Given the description of an element on the screen output the (x, y) to click on. 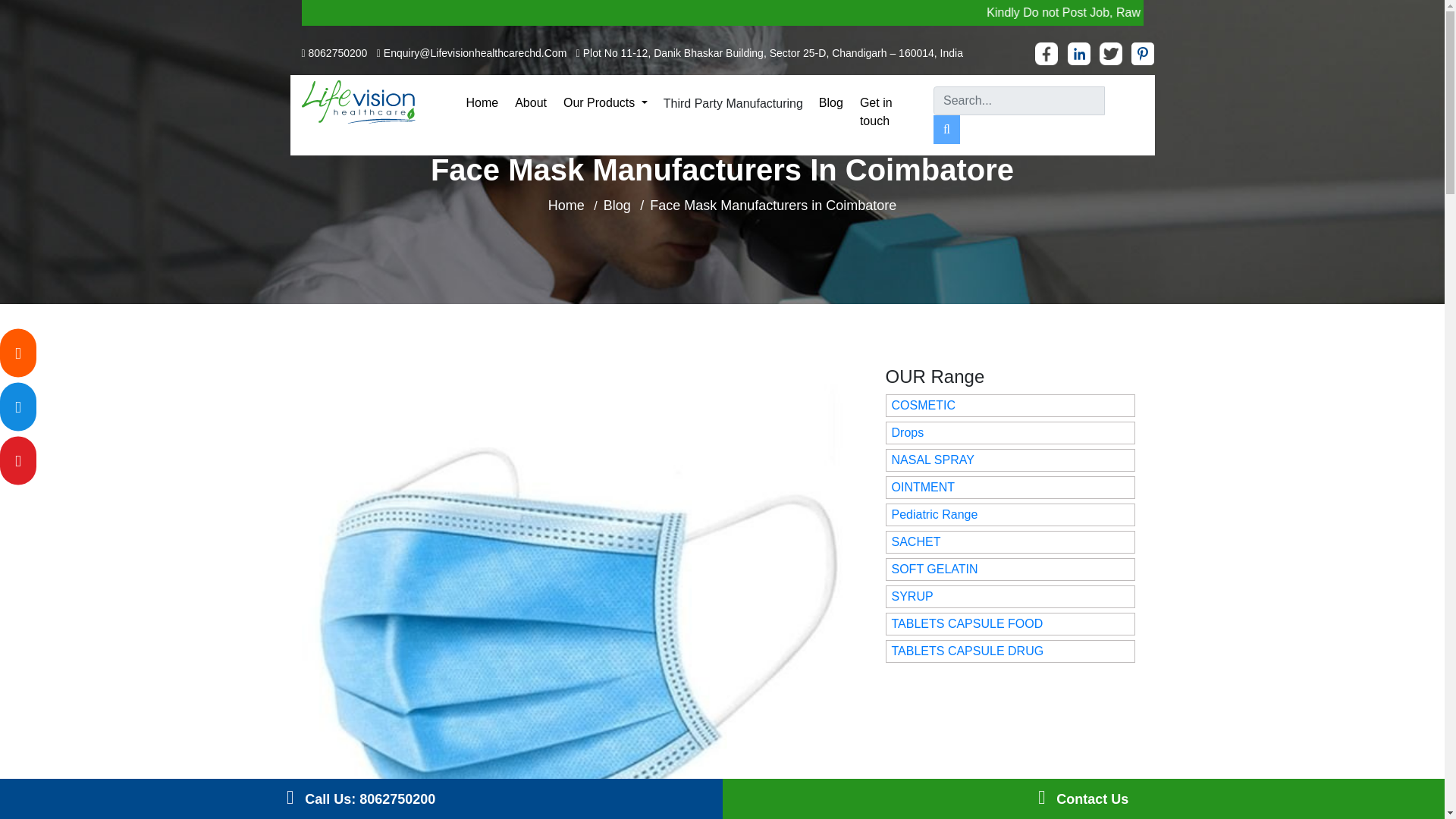
Home (566, 205)
Drops (907, 431)
Face Mask Manufacturers in Coimbatore (772, 205)
Our Products (605, 102)
Blog (617, 205)
COSMETIC (923, 404)
OINTMENT (923, 486)
Blog (830, 102)
8062750200 (338, 52)
NASAL SPRAY (932, 459)
